Given the description of an element on the screen output the (x, y) to click on. 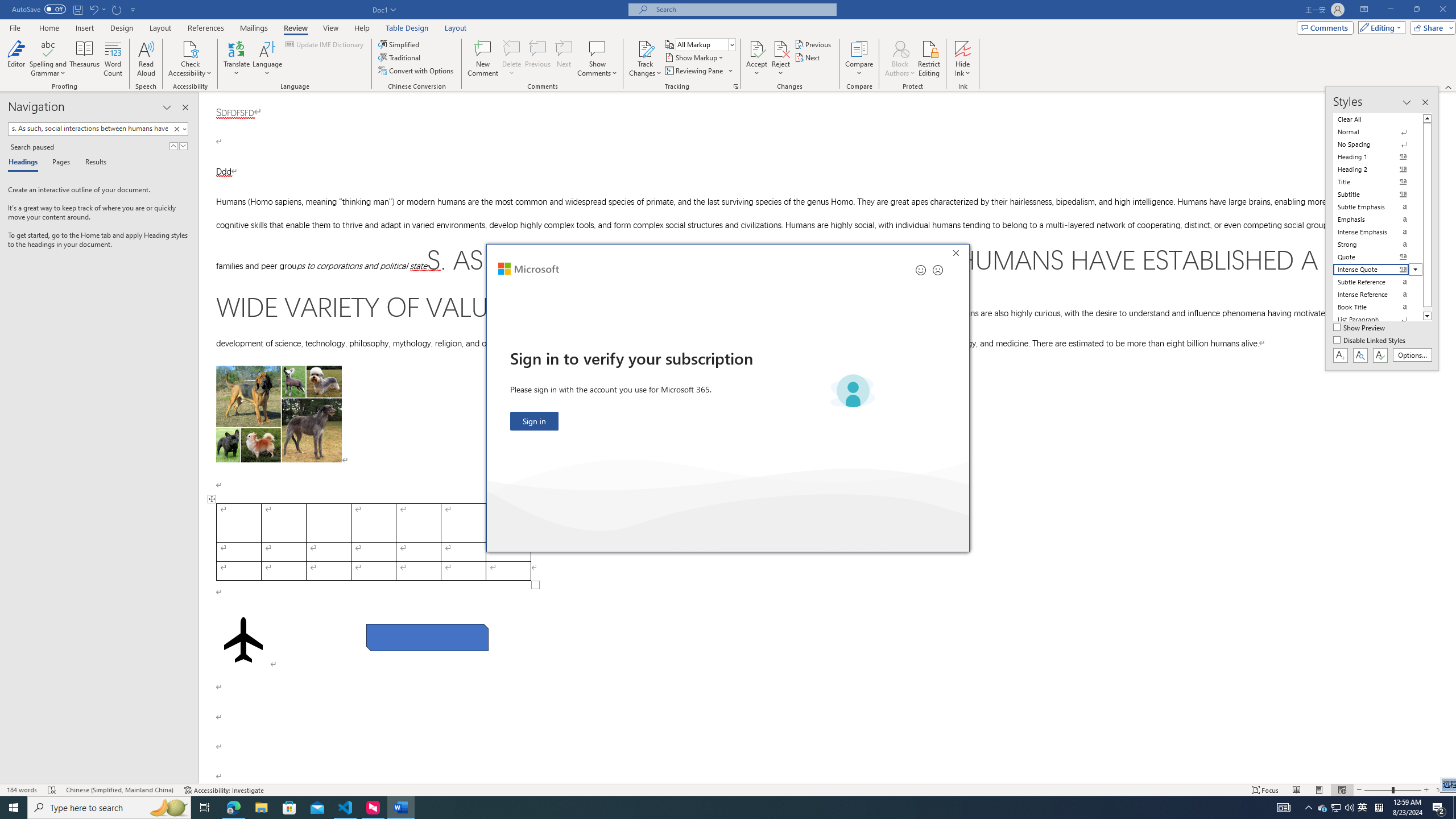
Change Tracking Options... (735, 85)
Send a smile for feedback (920, 269)
Reviewing Pane (694, 69)
Zoom 100% (1443, 790)
Undo Style (92, 9)
Block Authors (900, 48)
Subtle Emphasis (1377, 206)
